Given the description of an element on the screen output the (x, y) to click on. 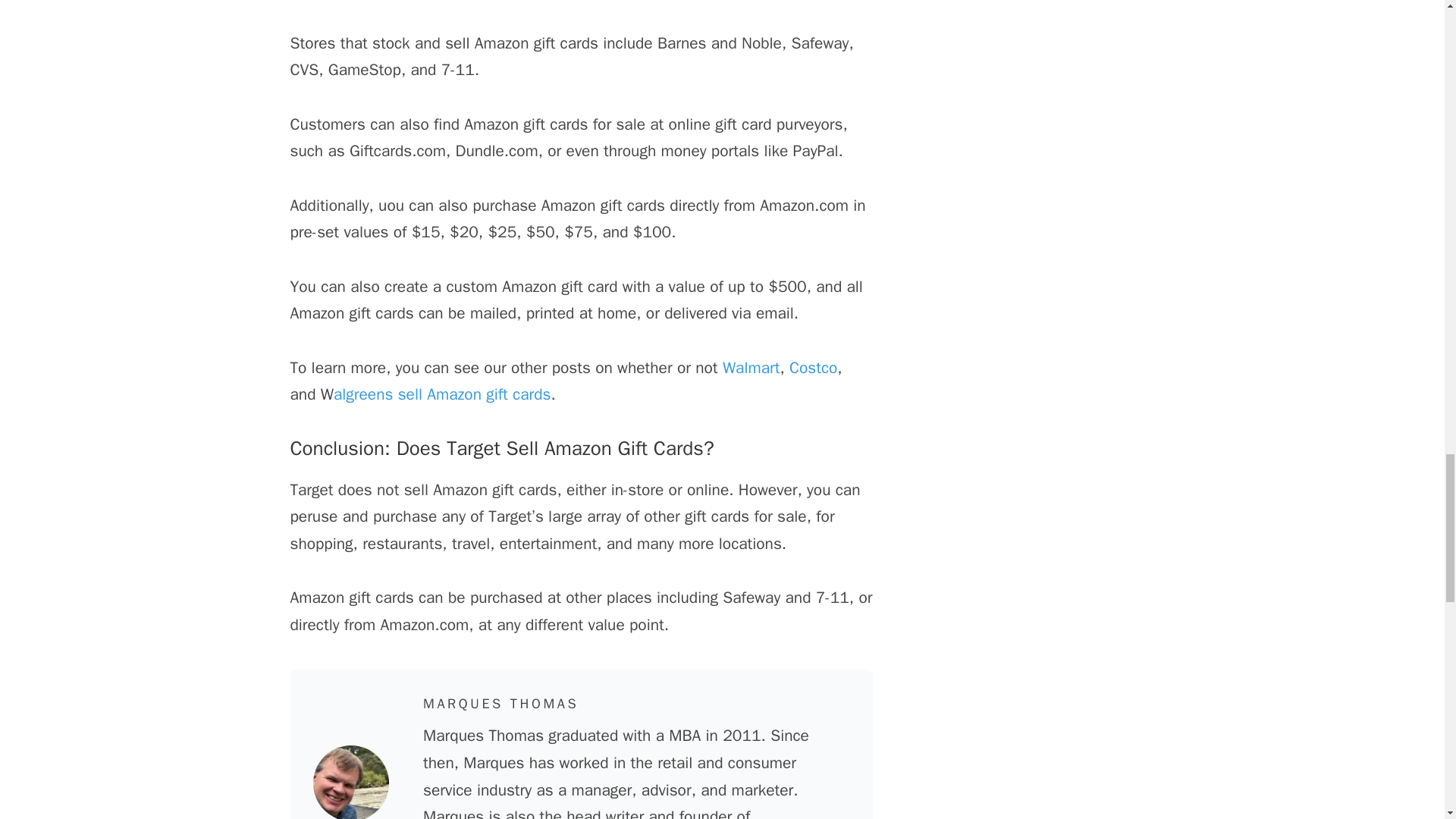
algreens sell Amazon gift cards (441, 394)
Walmart (751, 367)
Costco (813, 367)
